Given the description of an element on the screen output the (x, y) to click on. 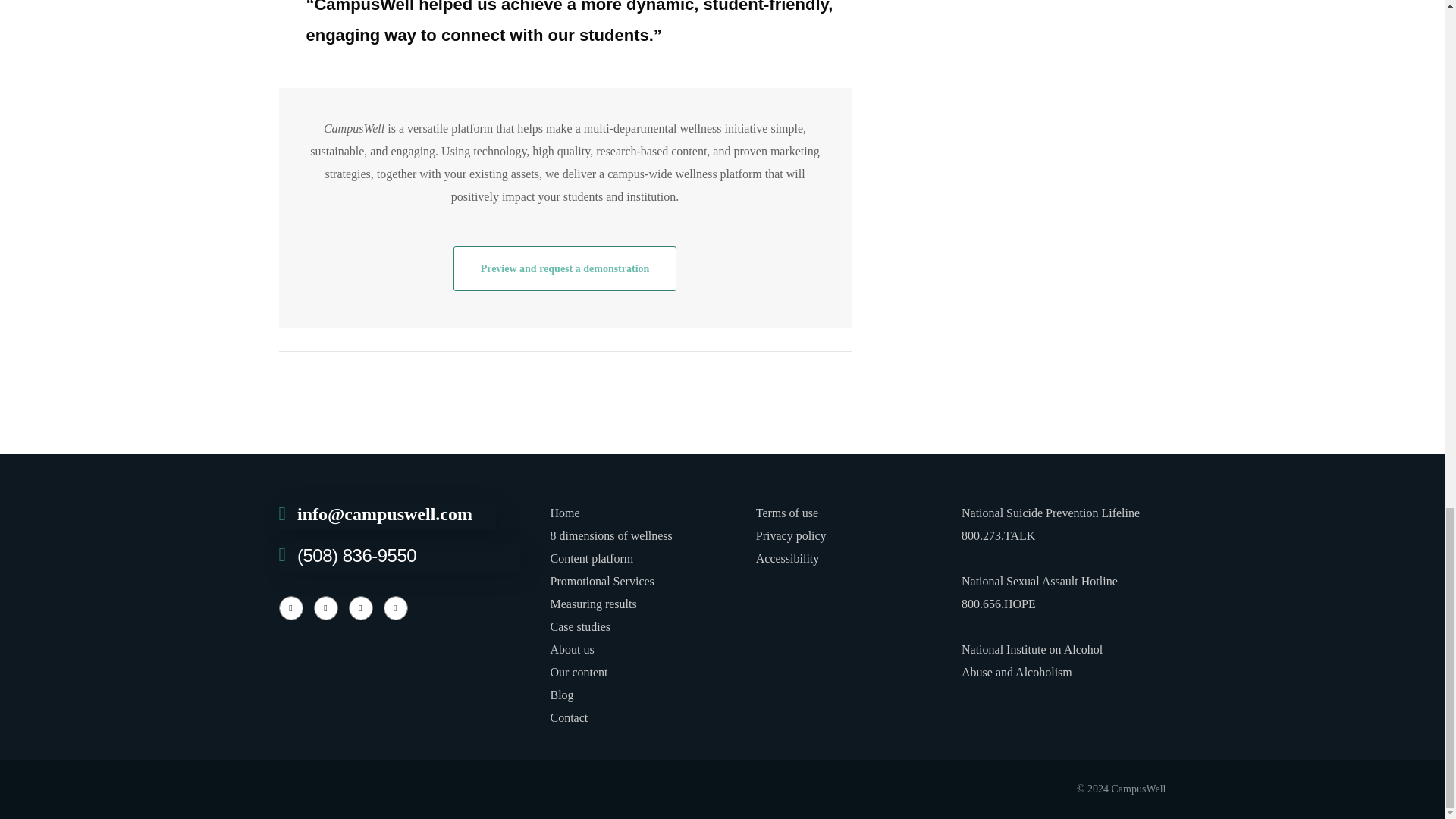
YouTube (395, 607)
LinkedIn (360, 607)
Facebook (290, 607)
Instagram (325, 607)
